Given the description of an element on the screen output the (x, y) to click on. 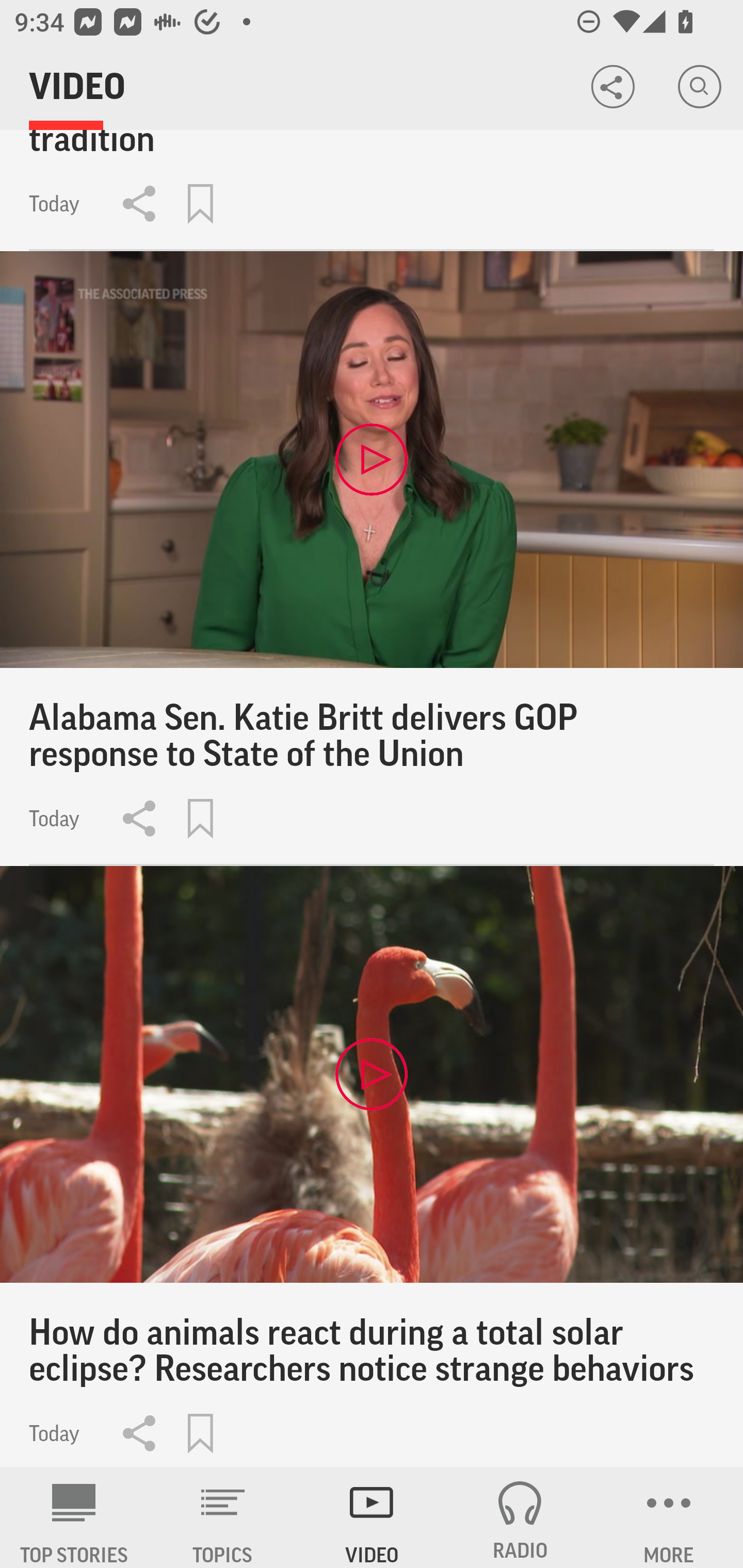
AP News TOP STORIES (74, 1517)
TOPICS (222, 1517)
VIDEO (371, 1517)
RADIO (519, 1517)
MORE (668, 1517)
